Given the description of an element on the screen output the (x, y) to click on. 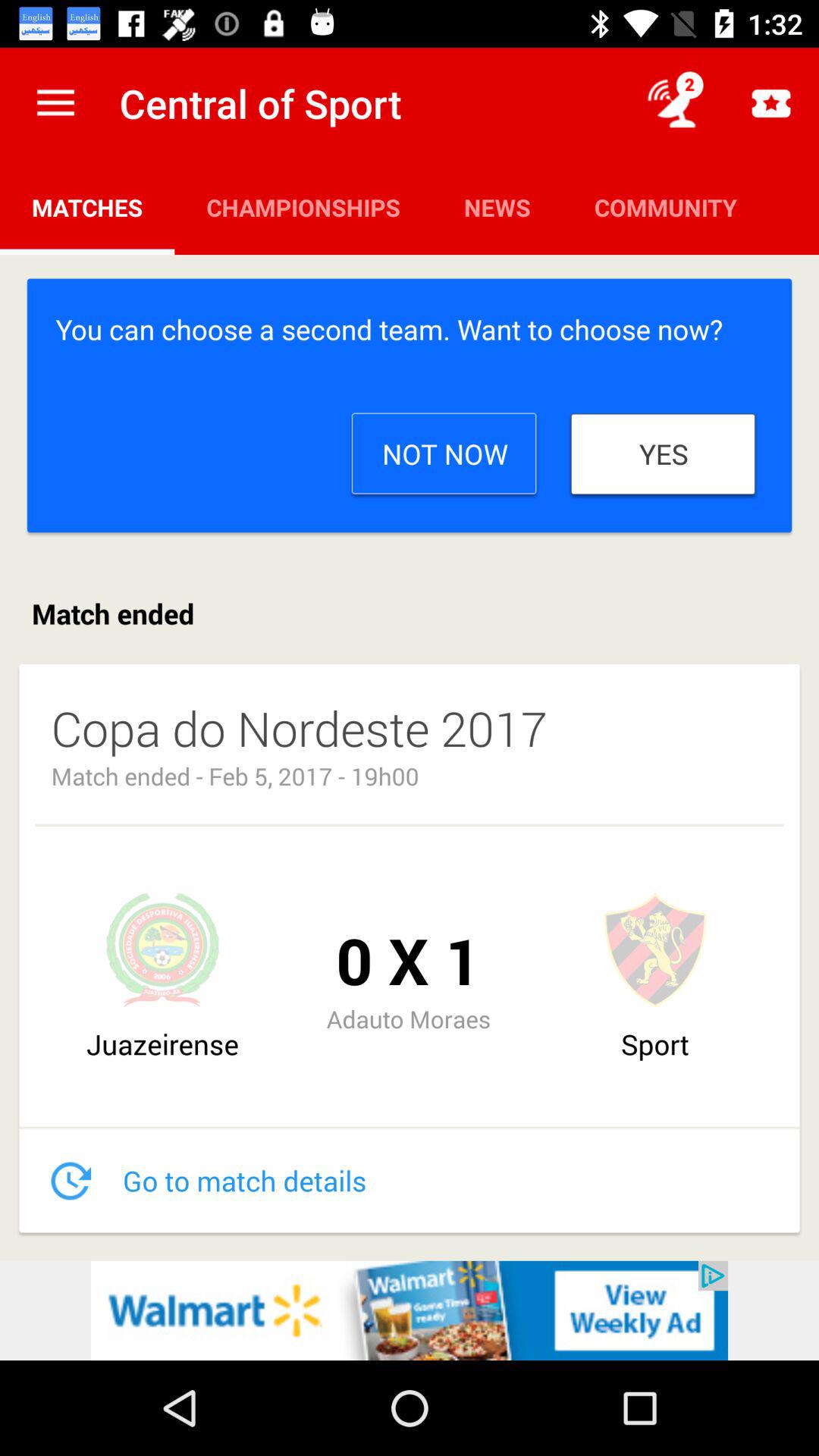
go to advertisements (409, 1310)
